Given the description of an element on the screen output the (x, y) to click on. 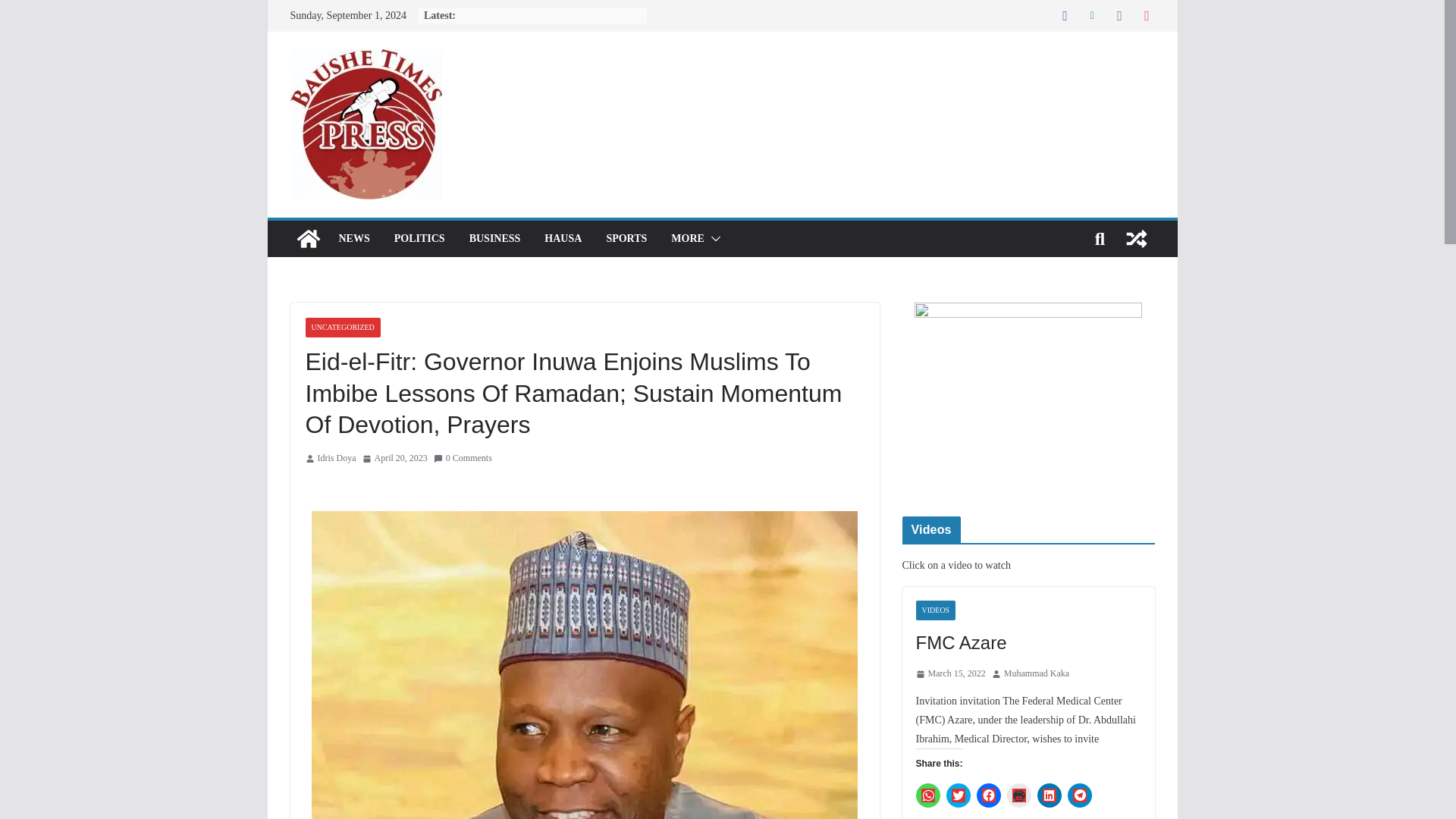
POLITICS (419, 238)
BUSINESS (494, 238)
UNCATEGORIZED (342, 327)
0 Comments (462, 458)
SPORTS (625, 238)
8:49 pm (395, 458)
Idris Doya (336, 458)
April 20, 2023 (395, 458)
Idris Doya (336, 458)
HAUSA (562, 238)
